Given the description of an element on the screen output the (x, y) to click on. 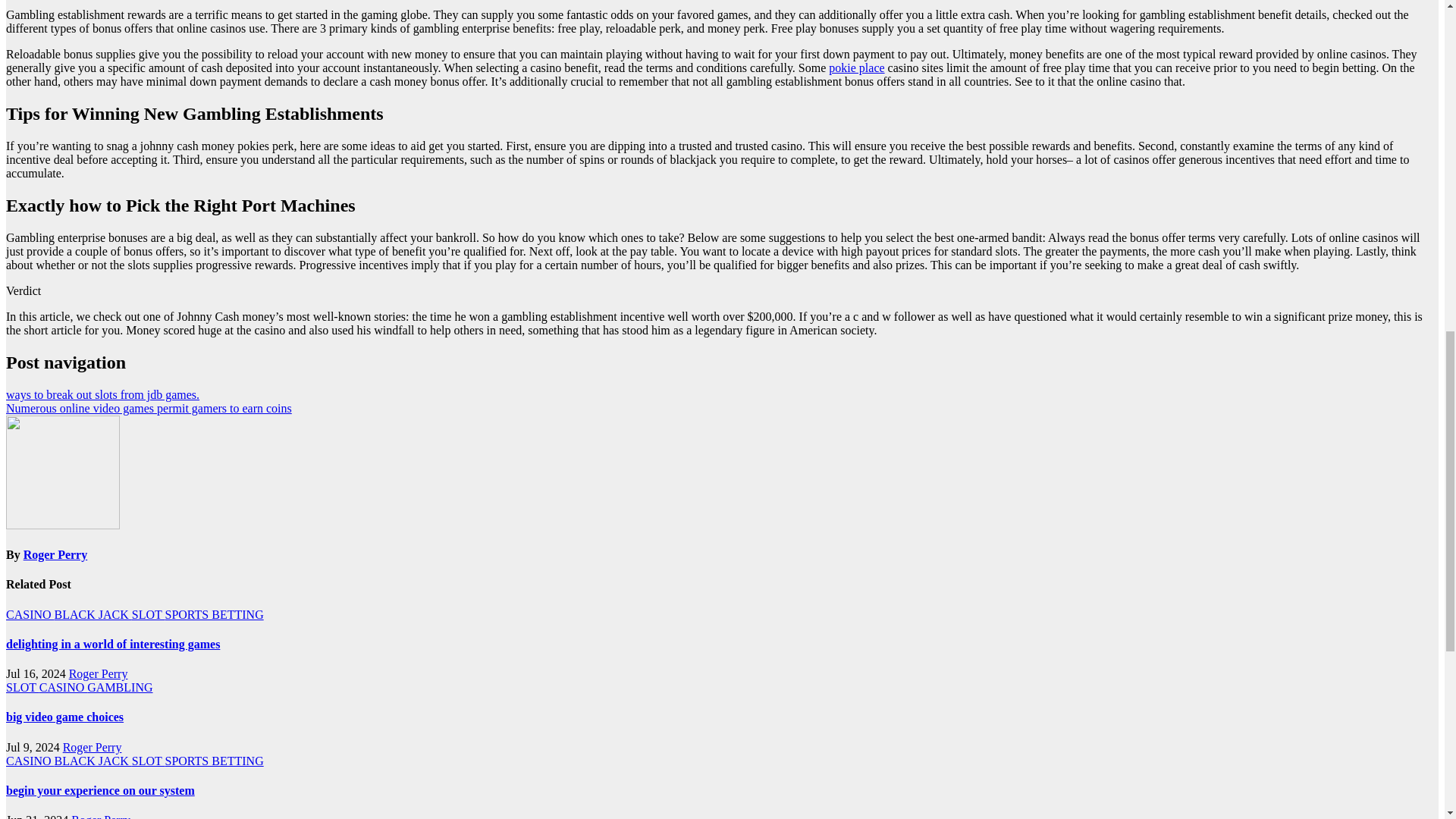
delighting in a world of interesting games (112, 644)
SPORTS BETTING (214, 614)
SLOT (22, 686)
pokie place (855, 67)
CASINO (30, 614)
Permalink to: delighting in a world of interesting games (112, 644)
CASINO (63, 686)
Permalink to: begin your experience on our system (100, 789)
Roger Perry (98, 673)
Permalink to: big video game choices (64, 716)
BLACK JACK (93, 614)
Roger Perry (55, 554)
SLOT (148, 614)
